Given the description of an element on the screen output the (x, y) to click on. 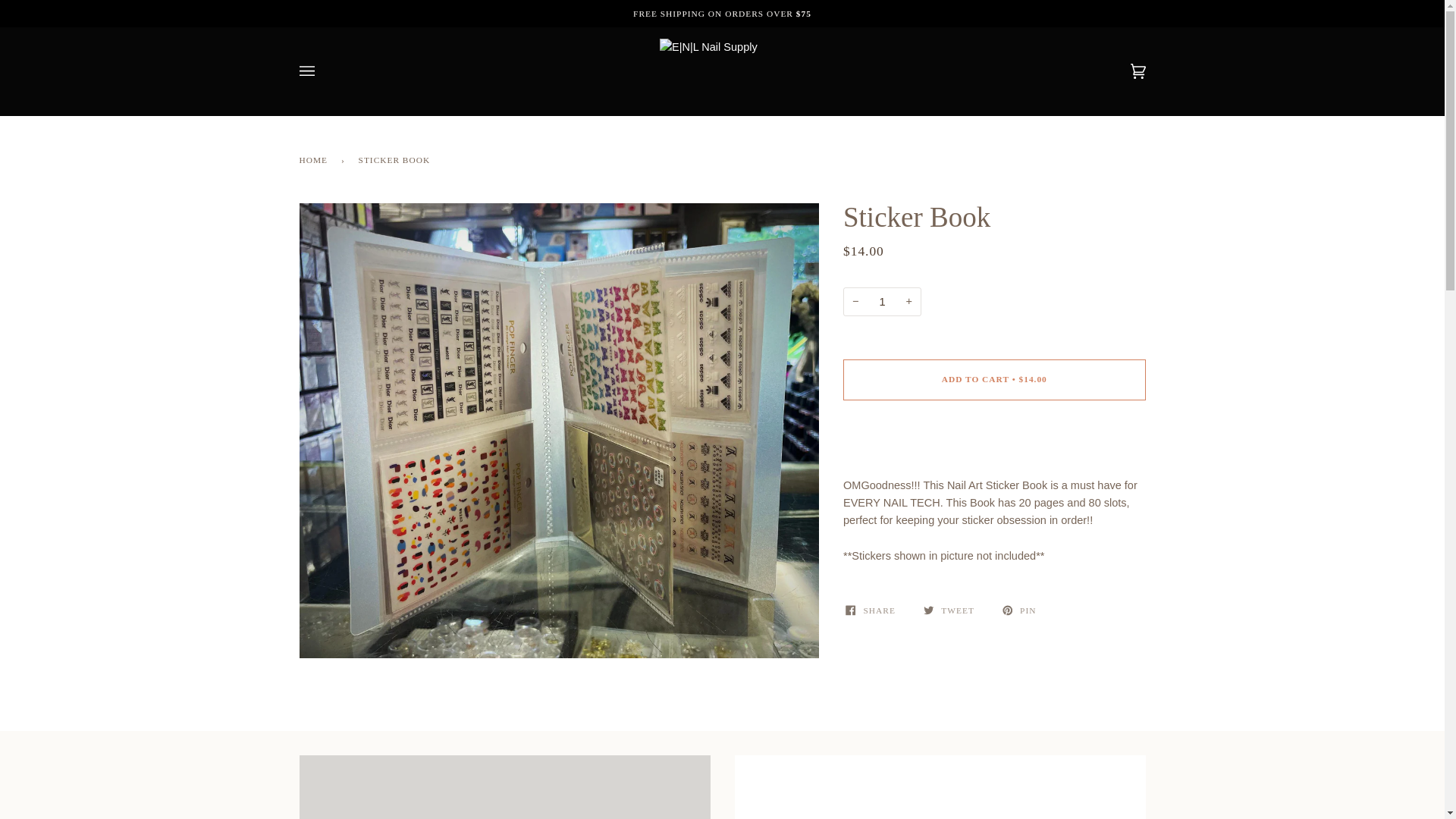
1 (882, 301)
Back to the frontpage (315, 159)
